Given the description of an element on the screen output the (x, y) to click on. 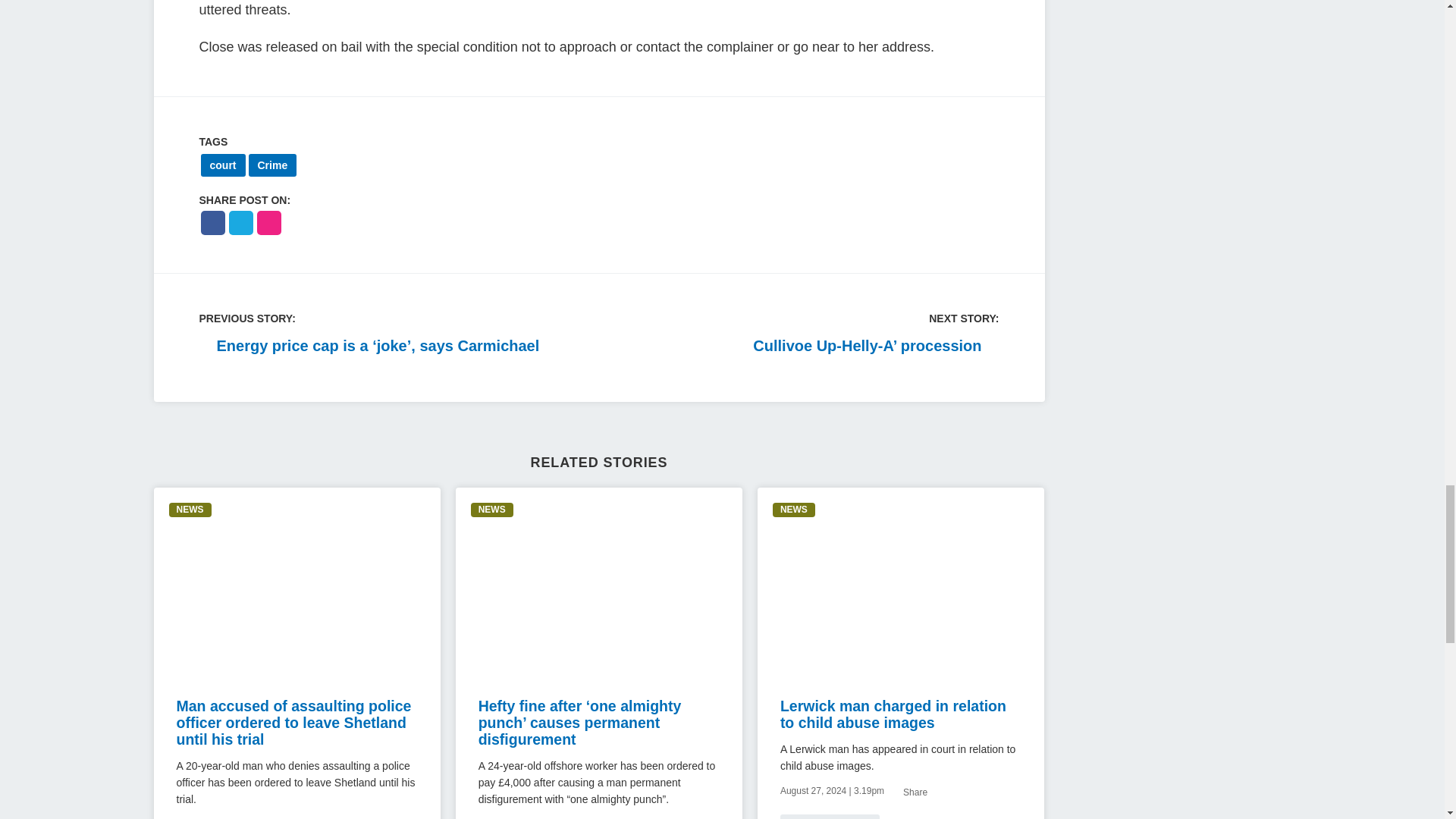
NEWS (794, 509)
court (222, 164)
Crime (272, 164)
NEWS (189, 509)
READ FULL STORY (829, 816)
NEWS (491, 509)
Lerwick man charged in relation to child abuse images (893, 714)
